Given the description of an element on the screen output the (x, y) to click on. 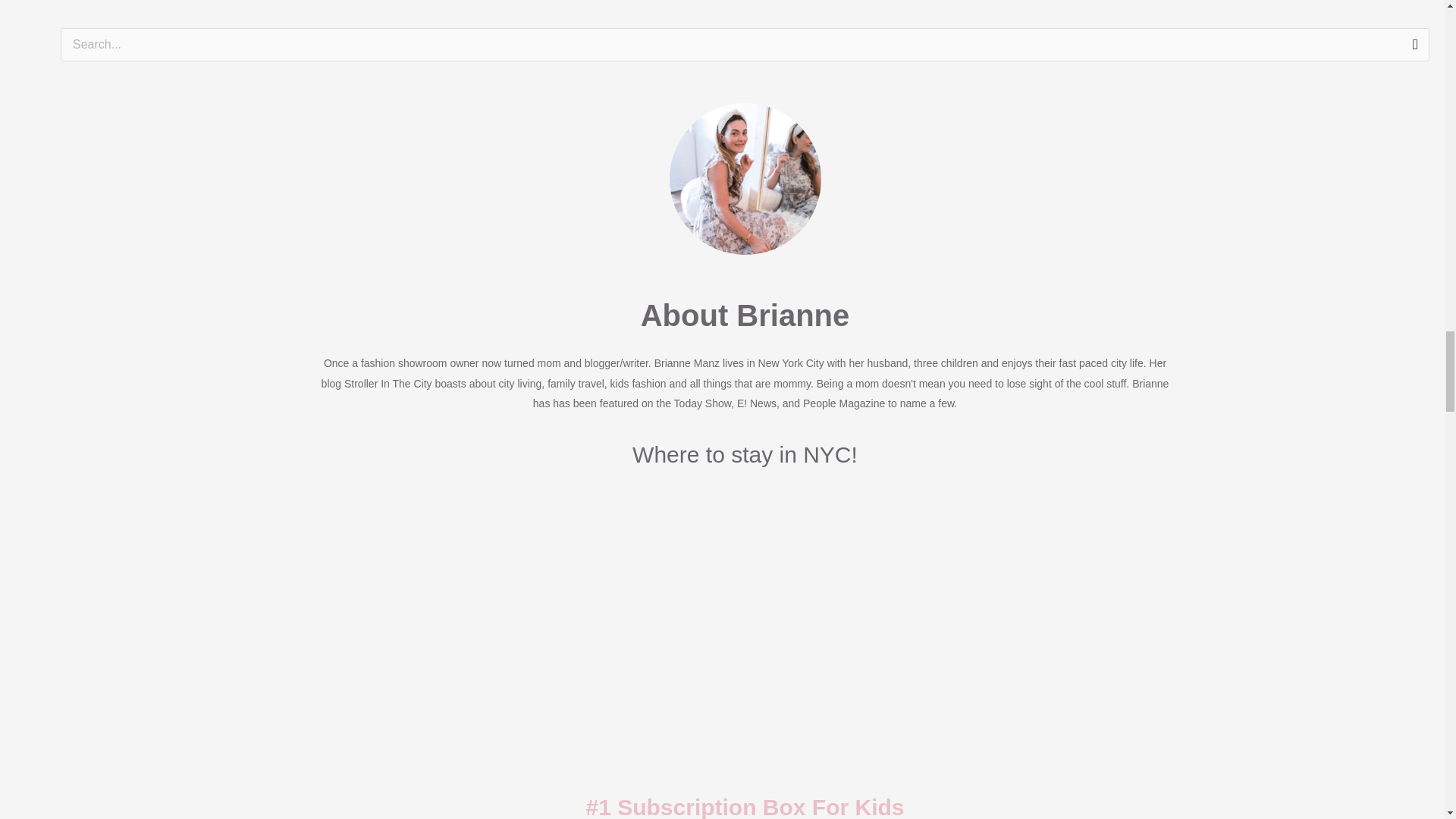
Search (1411, 48)
Search (1411, 48)
